Given the description of an element on the screen output the (x, y) to click on. 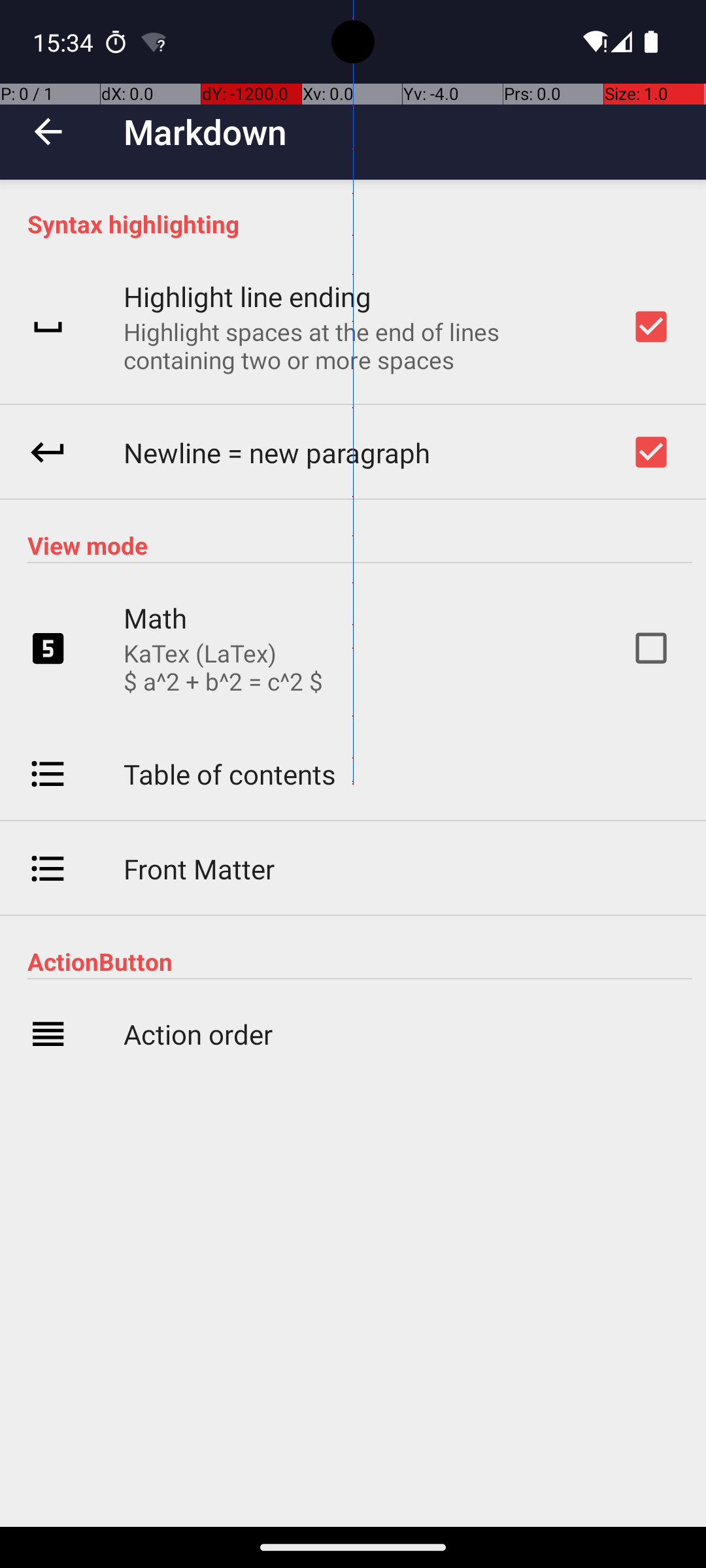
Syntax highlighting Element type: android.widget.TextView (359, 223)
ActionButton Element type: android.widget.TextView (359, 961)
Highlight line ending Element type: android.widget.TextView (247, 295)
Highlight spaces at the end of lines containing two or more spaces Element type: android.widget.TextView (359, 345)
Newline = new paragraph Element type: android.widget.TextView (276, 452)
Math Element type: android.widget.TextView (154, 617)
KaTex (LaTex)
$ a^2 + b^2 = c^2 $ Element type: android.widget.TextView (222, 666)
Front Matter Element type: android.widget.TextView (199, 868)
Action order Element type: android.widget.TextView (197, 1033)
